Given the description of an element on the screen output the (x, y) to click on. 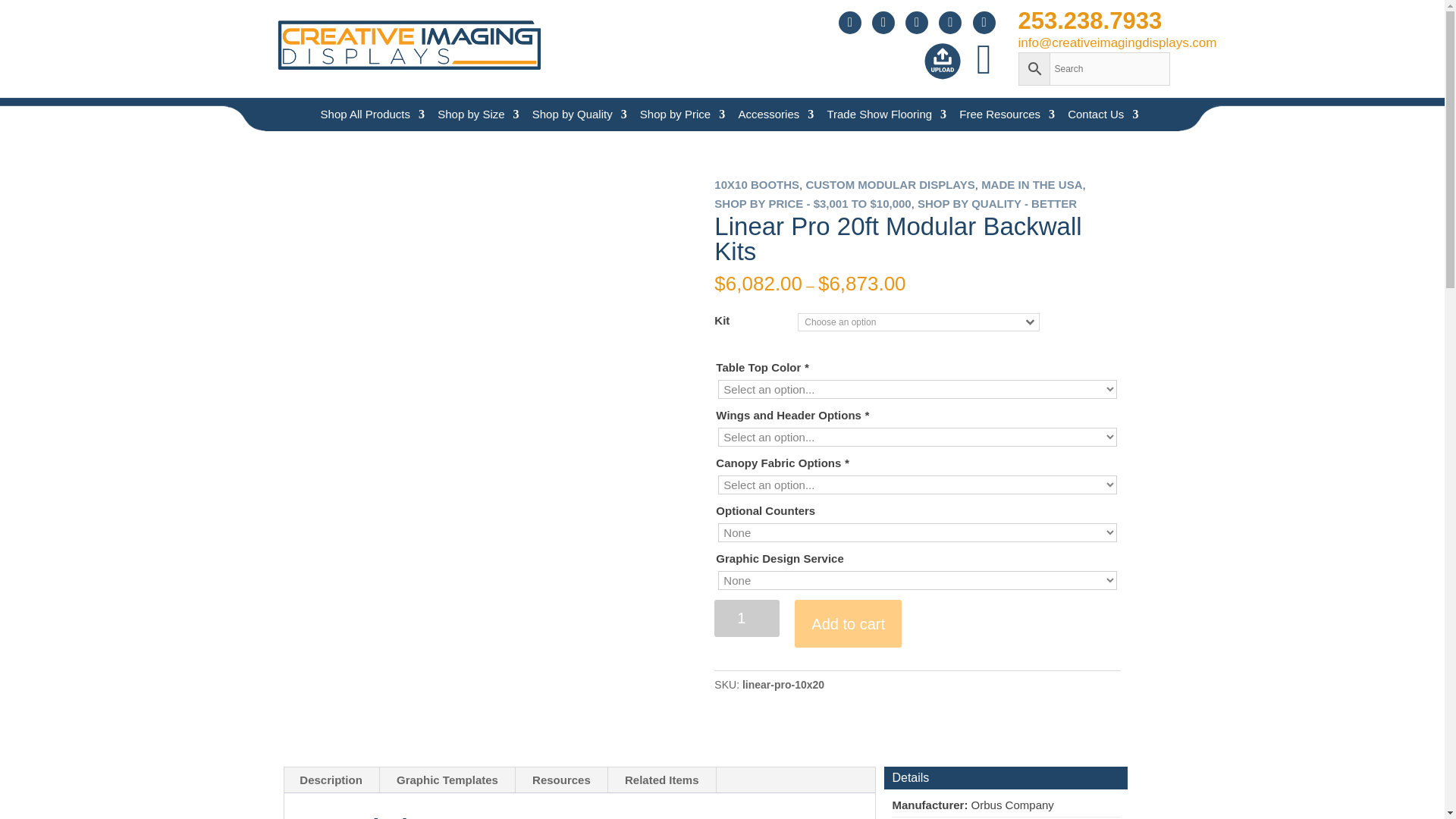
1 (746, 618)
Follow us on LinkedIn (916, 22)
Follow us on Instagram (883, 22)
Follow us on Twitter (949, 22)
Shop by Size (470, 114)
253.238.7933 (1093, 21)
View your shopping cart (984, 75)
Shop All Products (365, 114)
Follow us on Facebook (983, 22)
Follow us on Pinterest (849, 22)
